Given the description of an element on the screen output the (x, y) to click on. 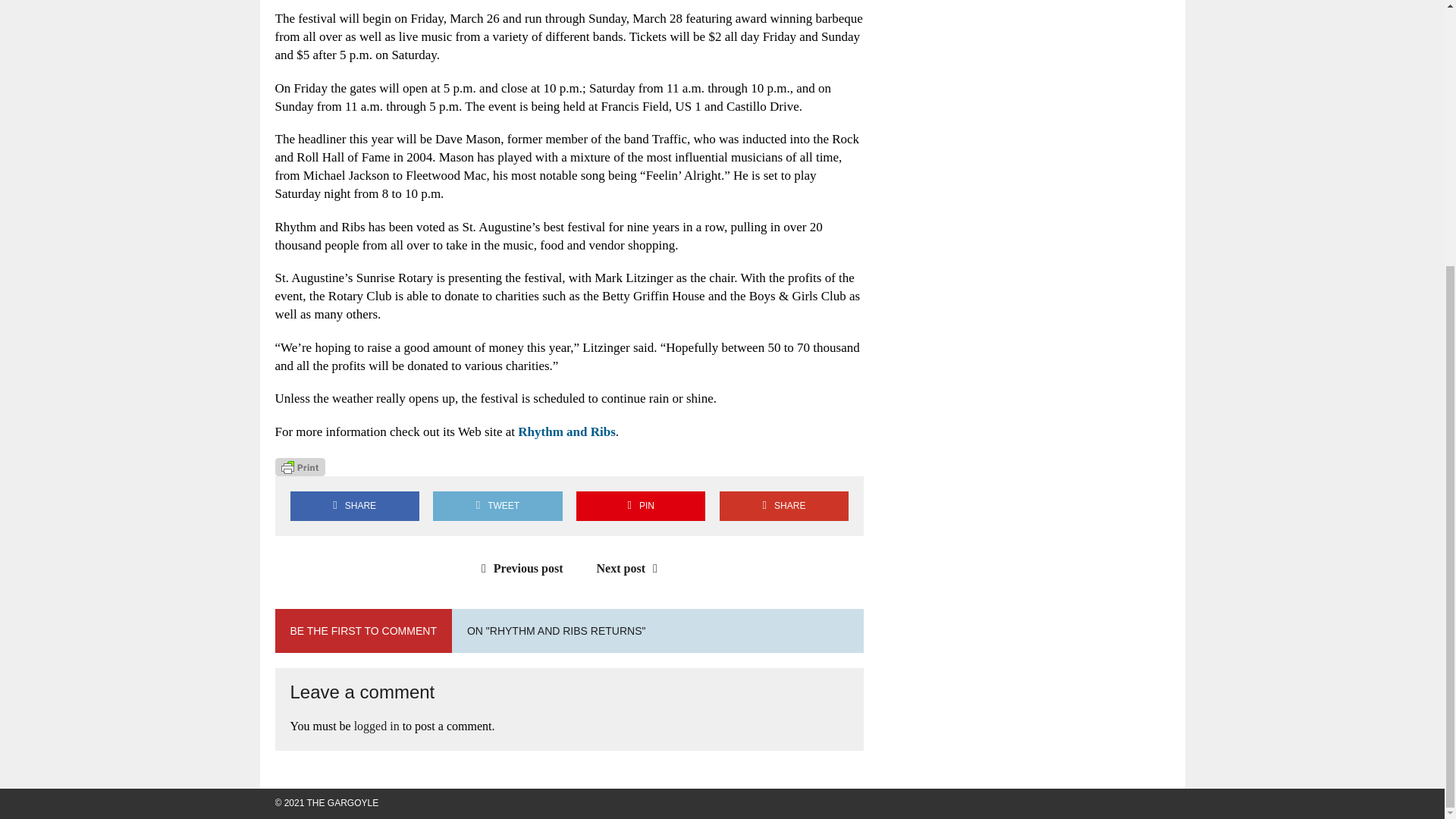
Tweet This Post (497, 505)
Share on Facebook (354, 505)
Rhythm and Ribs (566, 431)
Pin This Post (640, 505)
